Given the description of an element on the screen output the (x, y) to click on. 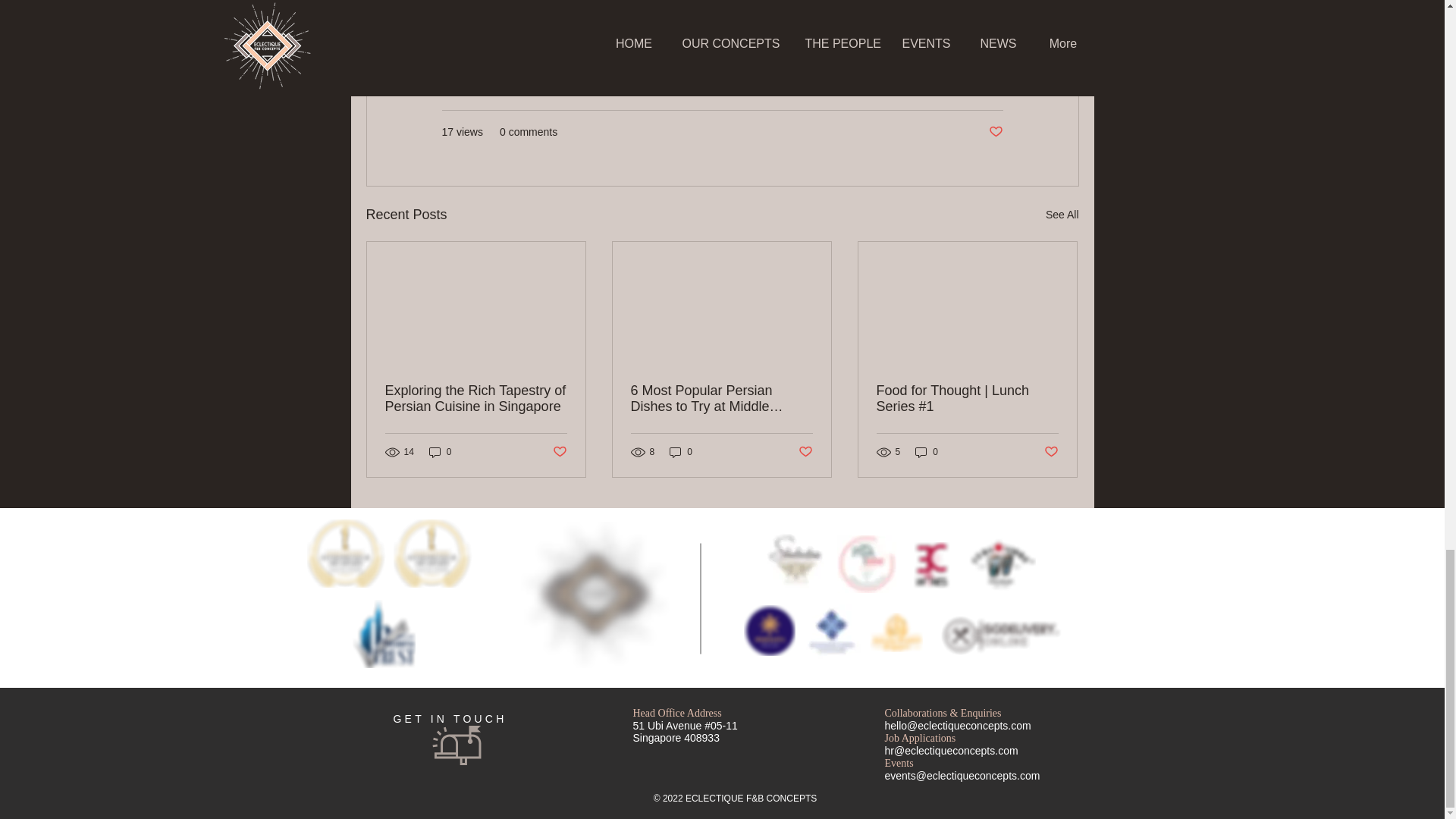
News (989, 87)
See All (1061, 214)
www.shabestan.sg (497, 14)
Post not marked as liked (804, 452)
0 (440, 452)
Exploring the Rich Tapestry of Persian Cuisine in Singapore (476, 398)
Post not marked as liked (558, 452)
0 (681, 452)
Post not marked as liked (995, 132)
